Given the description of an element on the screen output the (x, y) to click on. 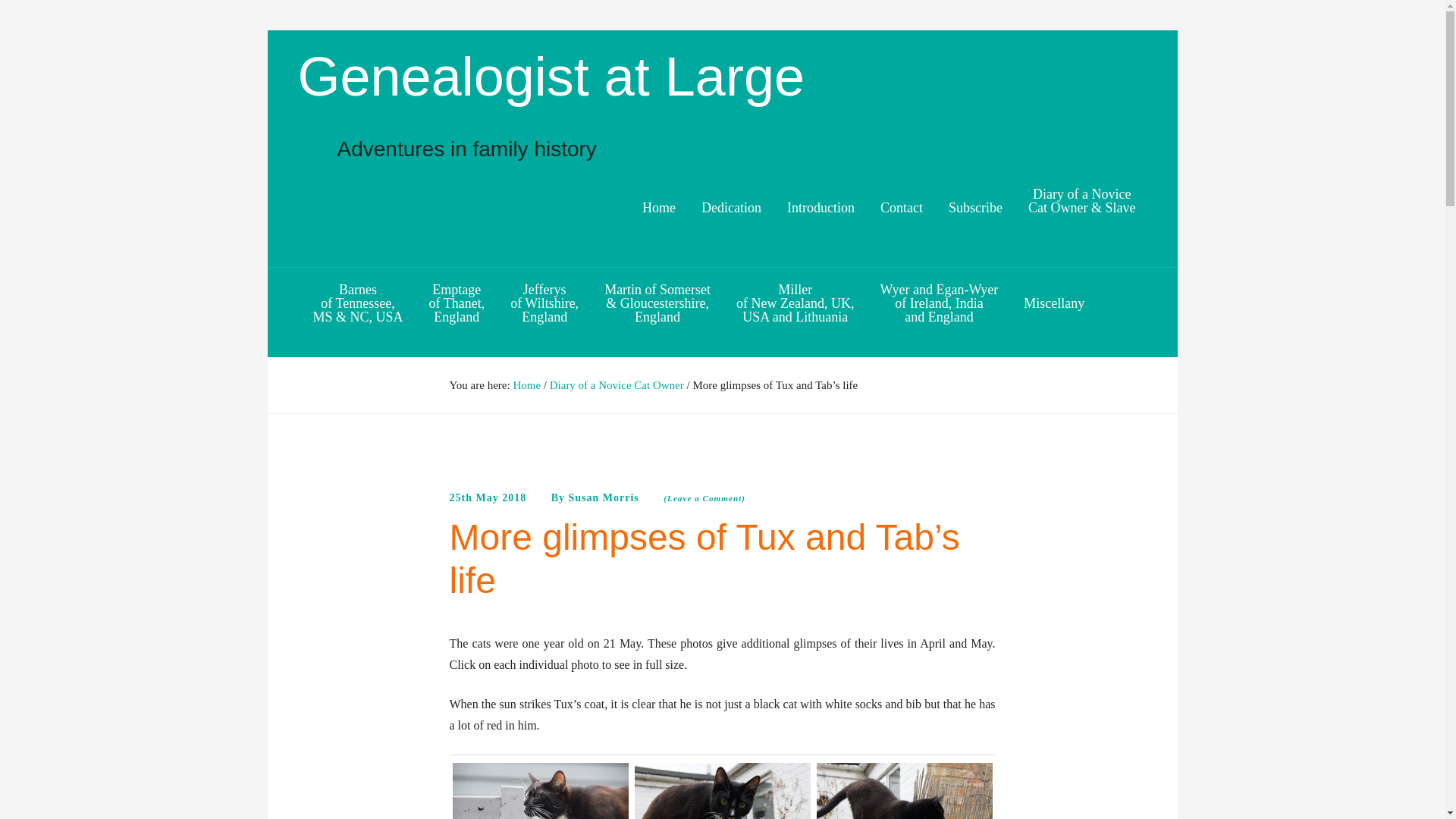
Home (664, 207)
Dedication (731, 207)
Contact (901, 207)
Genealogist at Large (945, 105)
Genealogist at Large (456, 303)
Subscribe (550, 76)
Introduction (975, 207)
